Given the description of an element on the screen output the (x, y) to click on. 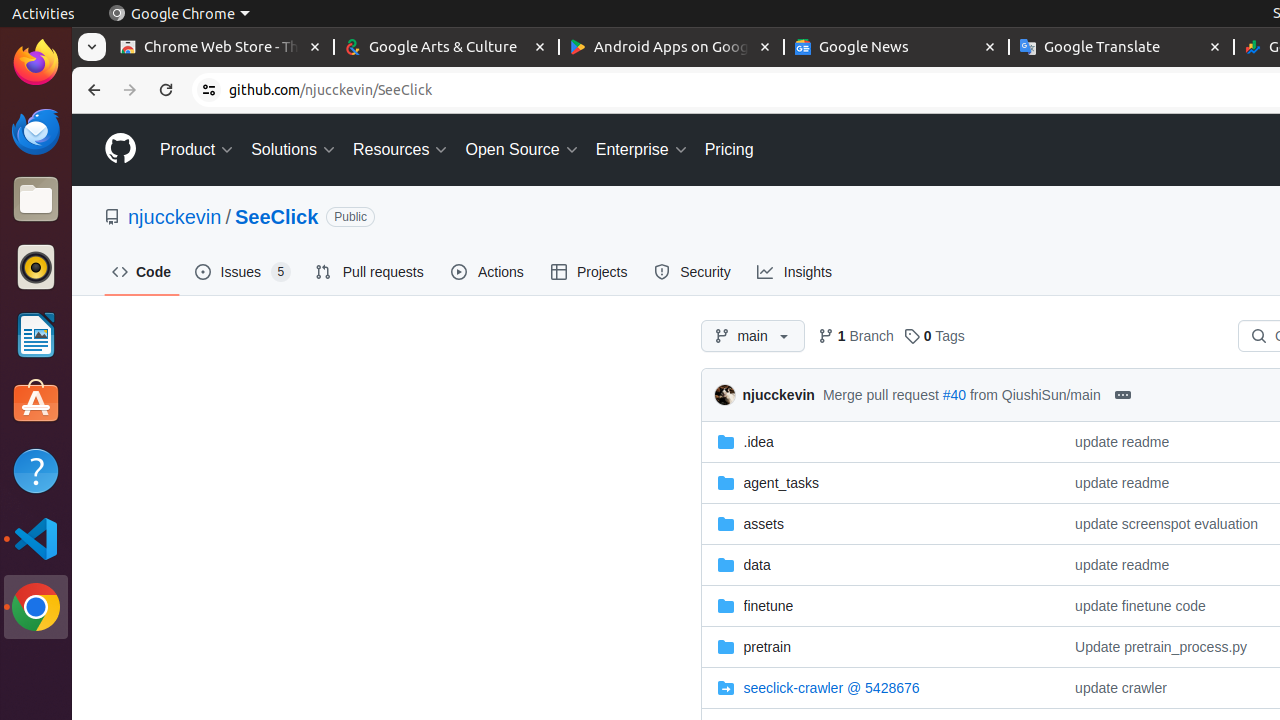
1 Branch Element type: link (855, 336)
Insights Element type: link (796, 272)
#40 Element type: link (954, 394)
update readme Element type: link (1122, 441)
0 Tags Element type: link (934, 336)
